Given the description of an element on the screen output the (x, y) to click on. 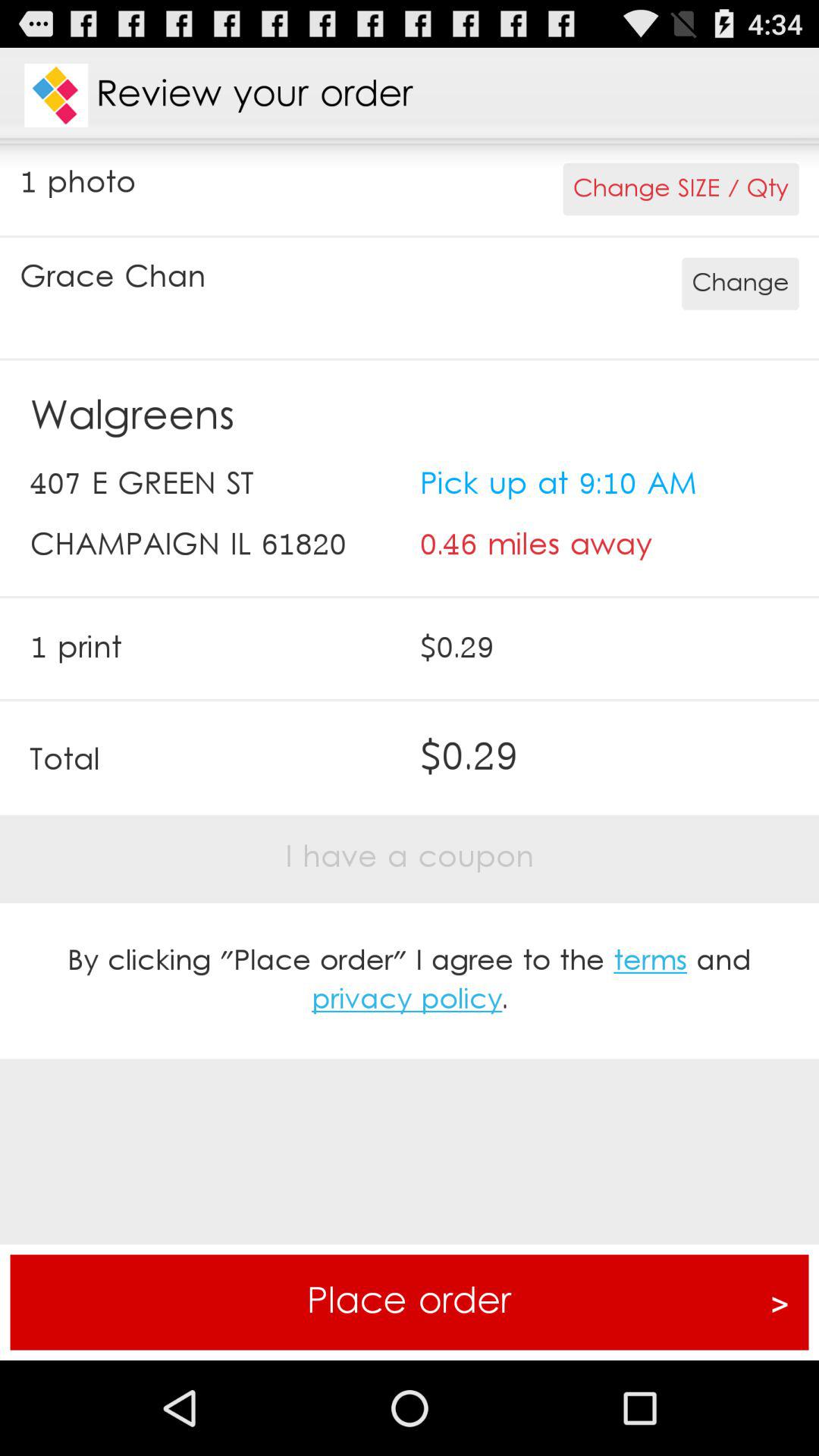
turn on app to the right of the 1 photo app (681, 189)
